Given the description of an element on the screen output the (x, y) to click on. 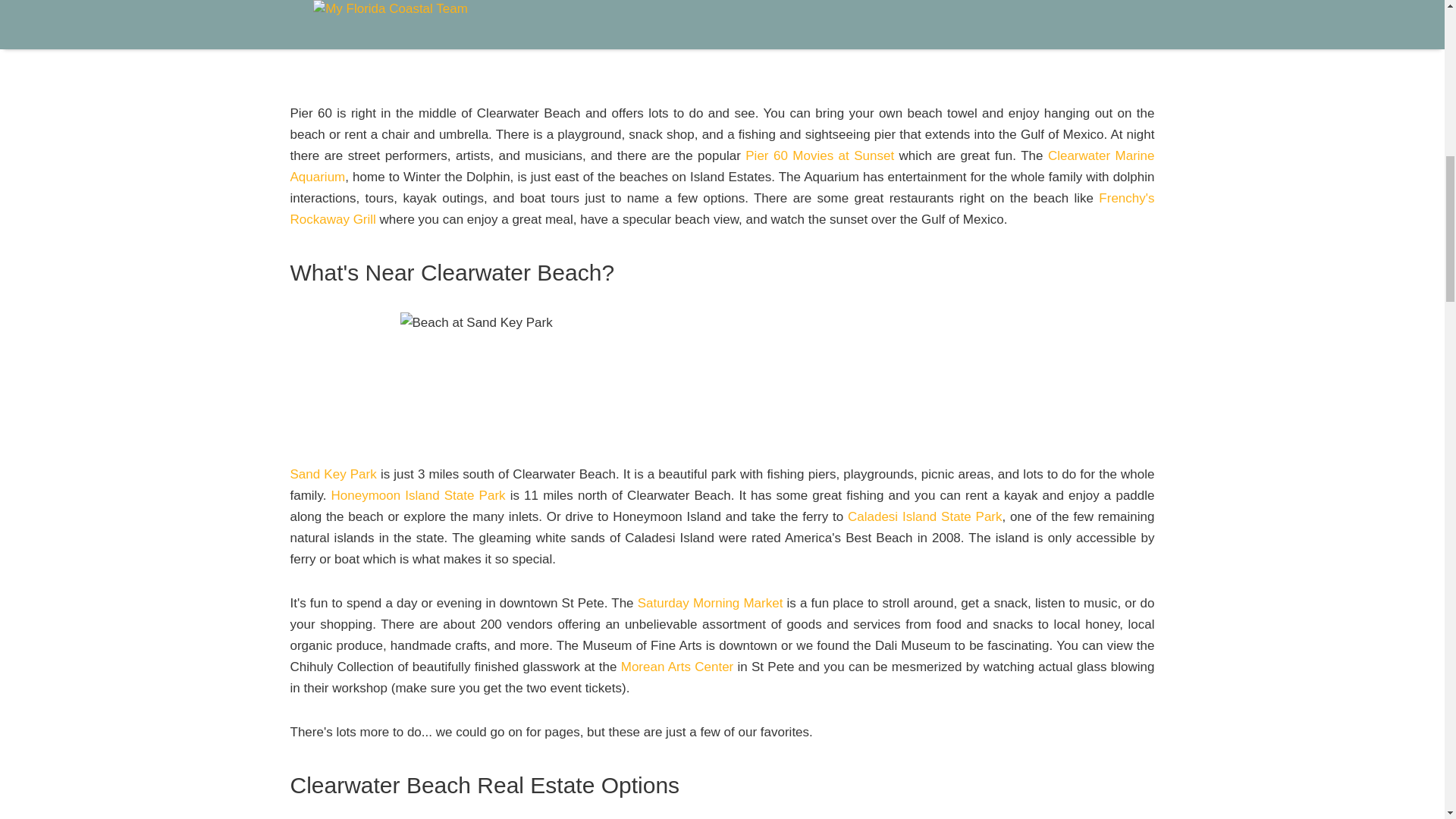
Beach at Sand Key Park (722, 376)
Pier 60 At Sunup (722, 40)
See Pier 60 Website (819, 155)
Visit Frenchy's Website (721, 208)
See the Clearwater Beach Acquarium website (721, 166)
